Given the description of an element on the screen output the (x, y) to click on. 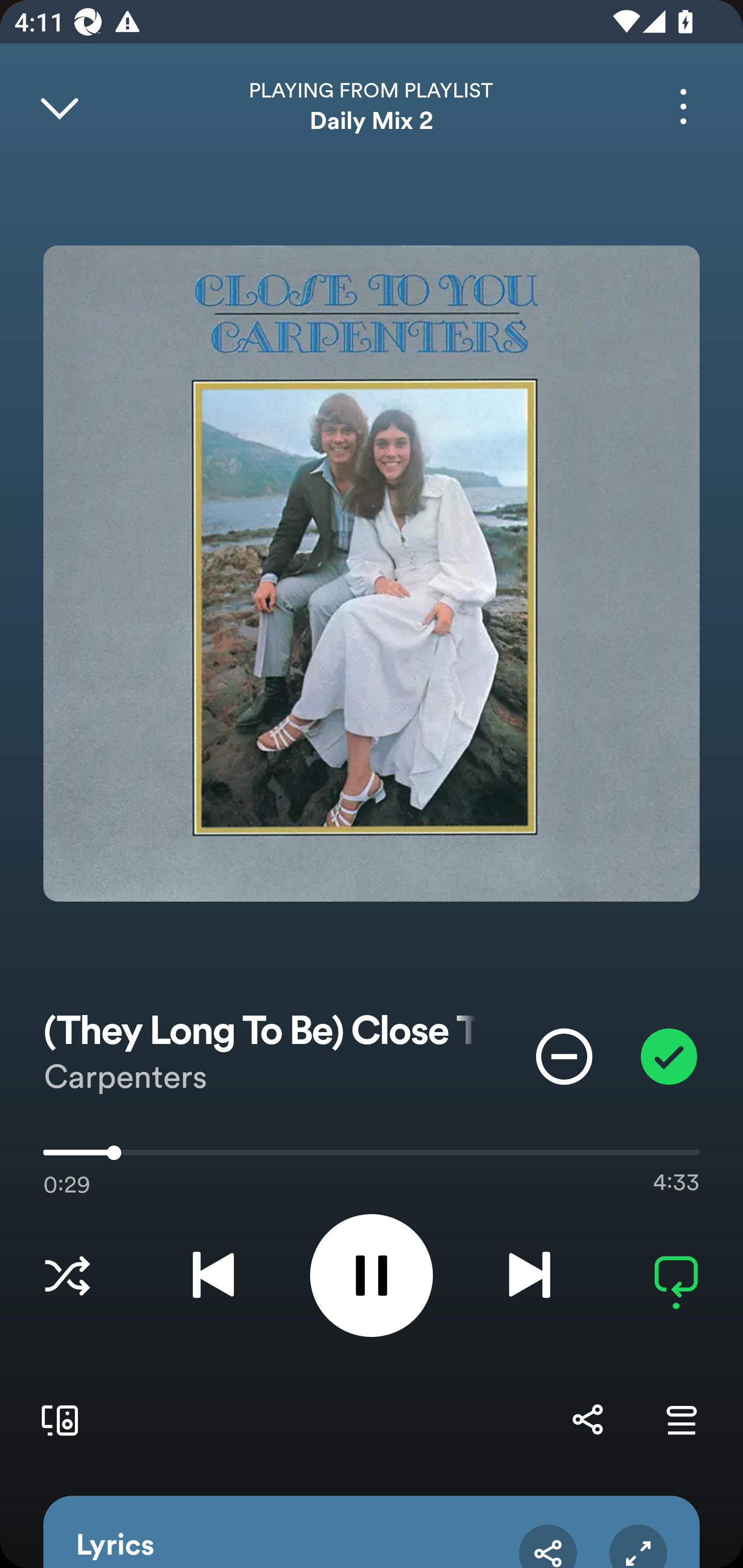
Close (59, 106)
PLAYING FROM PLAYLIST Daily Mix 2 (371, 106)
Don't play this (564, 1056)
Item added (669, 1056)
0:29 4:33 29277.0 Use volume keys to adjust (371, 1157)
Pause (371, 1275)
Previous (212, 1275)
Next (529, 1275)
Shuffle tracks (66, 1275)
Repeat (676, 1275)
Share (587, 1419)
Go to Queue (681, 1419)
Connect to a device. Opens the devices menu (55, 1419)
Lyrics Share Expand (371, 1531)
Share (547, 1546)
Expand (638, 1546)
